Given the description of an element on the screen output the (x, y) to click on. 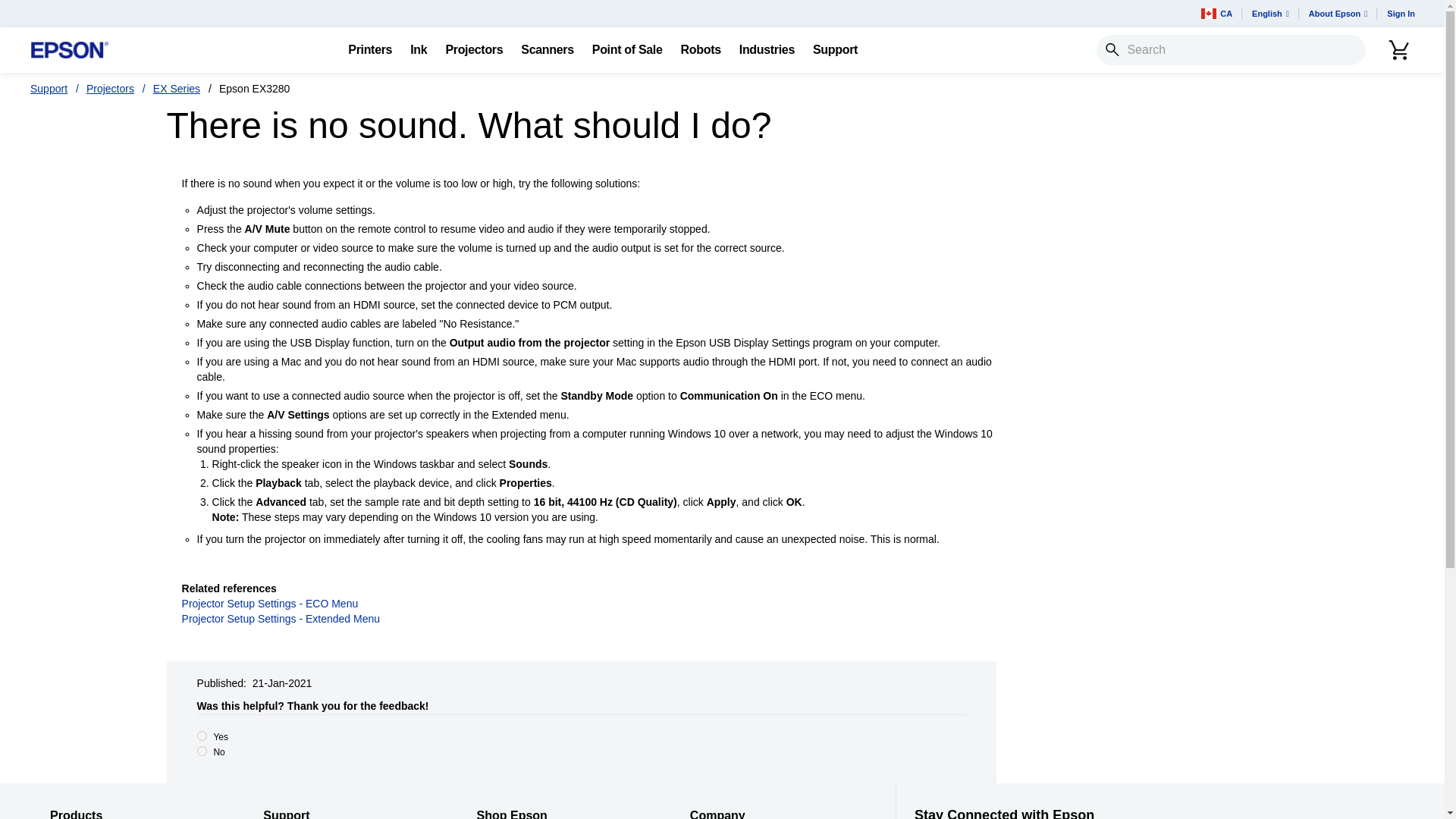
English (1270, 13)
no (201, 750)
Sign In (1400, 13)
English (1270, 13)
CA (1216, 13)
About Epson (1337, 13)
Epson Logo (69, 49)
yes (201, 736)
Sign In (1400, 13)
CA (1216, 13)
